Given the description of an element on the screen output the (x, y) to click on. 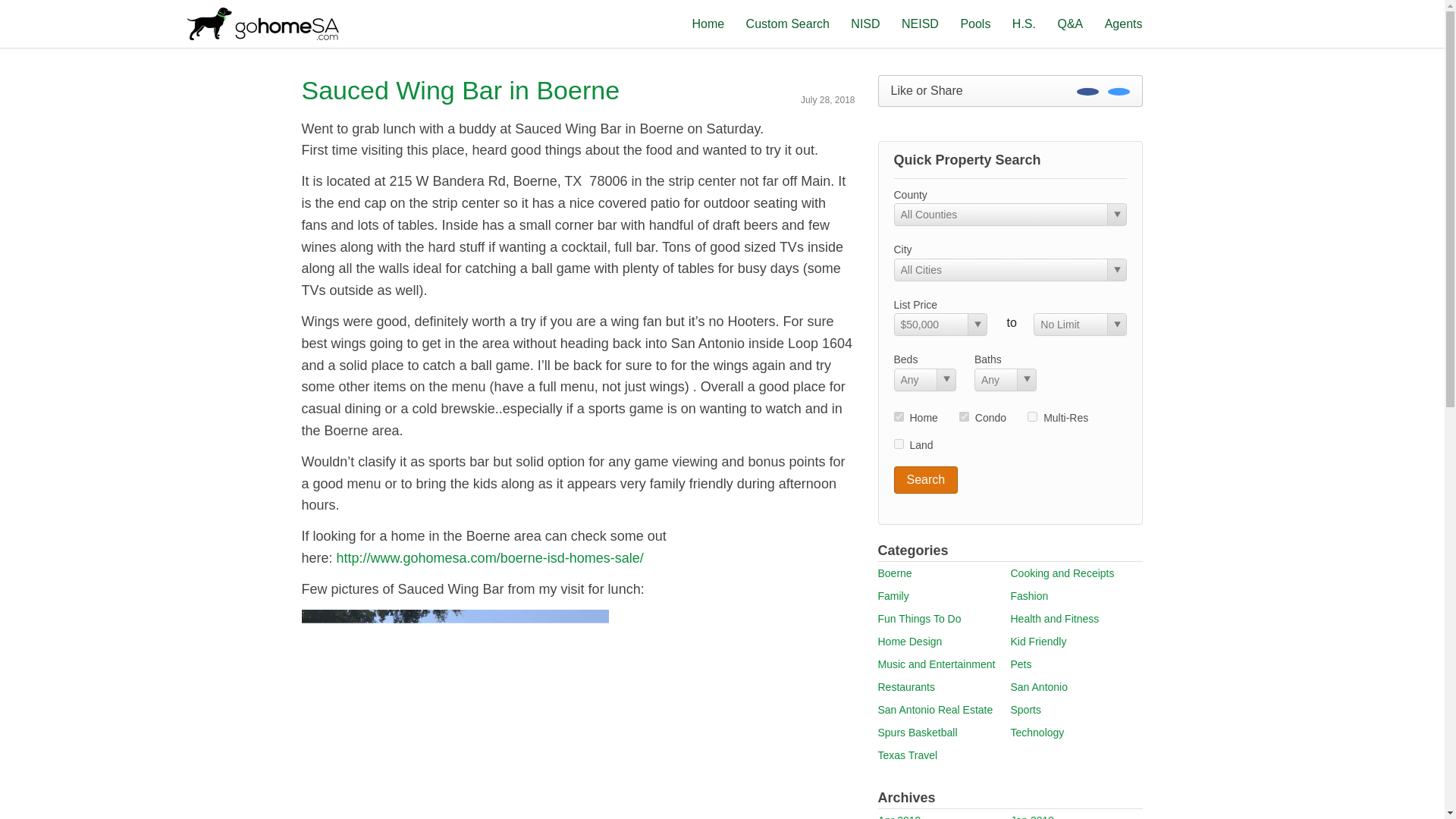
mul (1031, 416)
NEISD (920, 23)
Fashion (1029, 595)
Search (925, 479)
Music and Entertainment (936, 664)
Agents (1123, 23)
lnd (897, 443)
Pools (974, 23)
Home Design (909, 641)
Fun Things To Do (918, 618)
Family (892, 595)
Sauced Wing Bar in Boerne (460, 90)
Like or Share (1009, 91)
Custom Search (787, 23)
Home (707, 23)
